Given the description of an element on the screen output the (x, y) to click on. 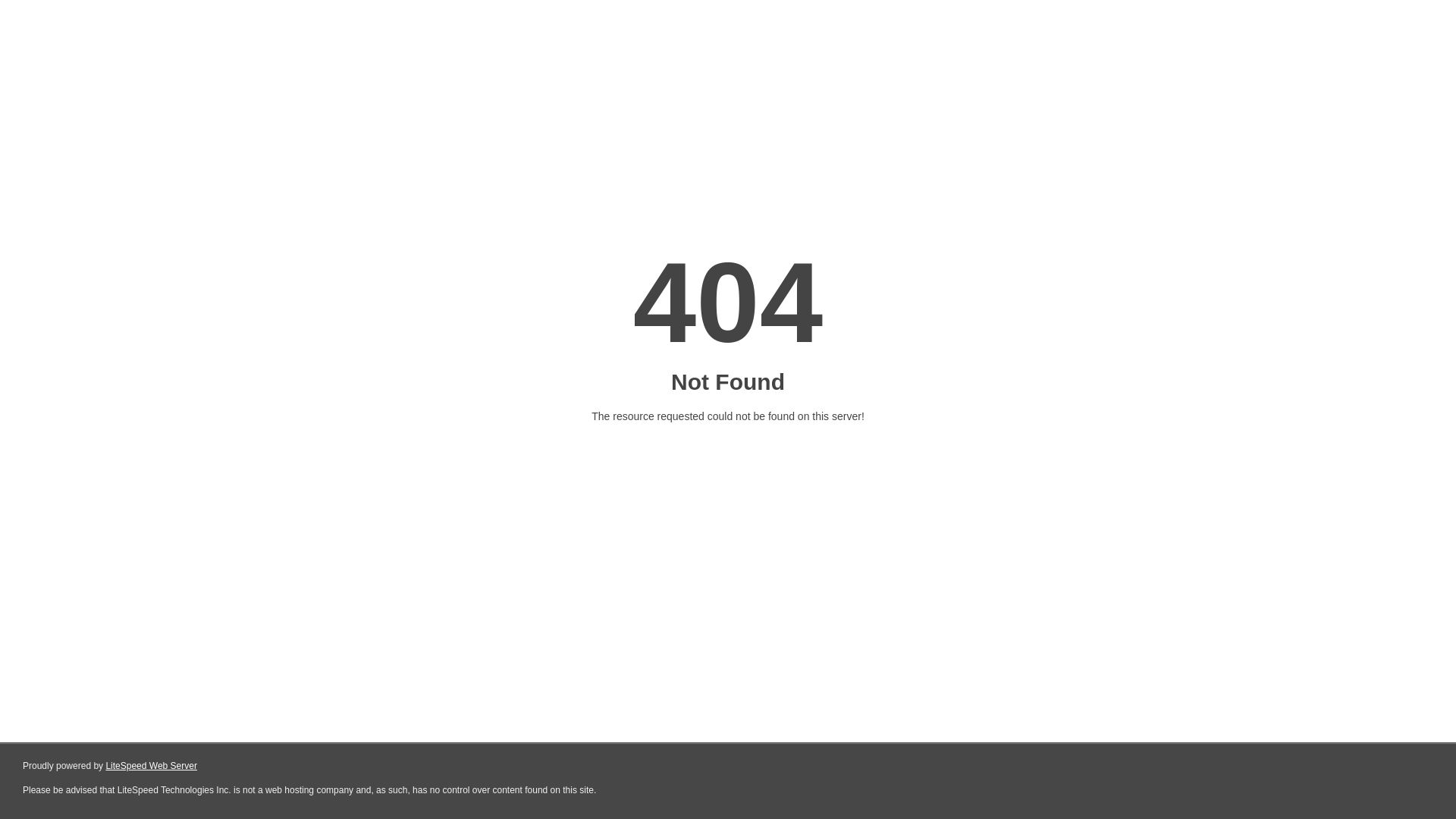
LiteSpeed Web Server Element type: text (151, 765)
